Given the description of an element on the screen output the (x, y) to click on. 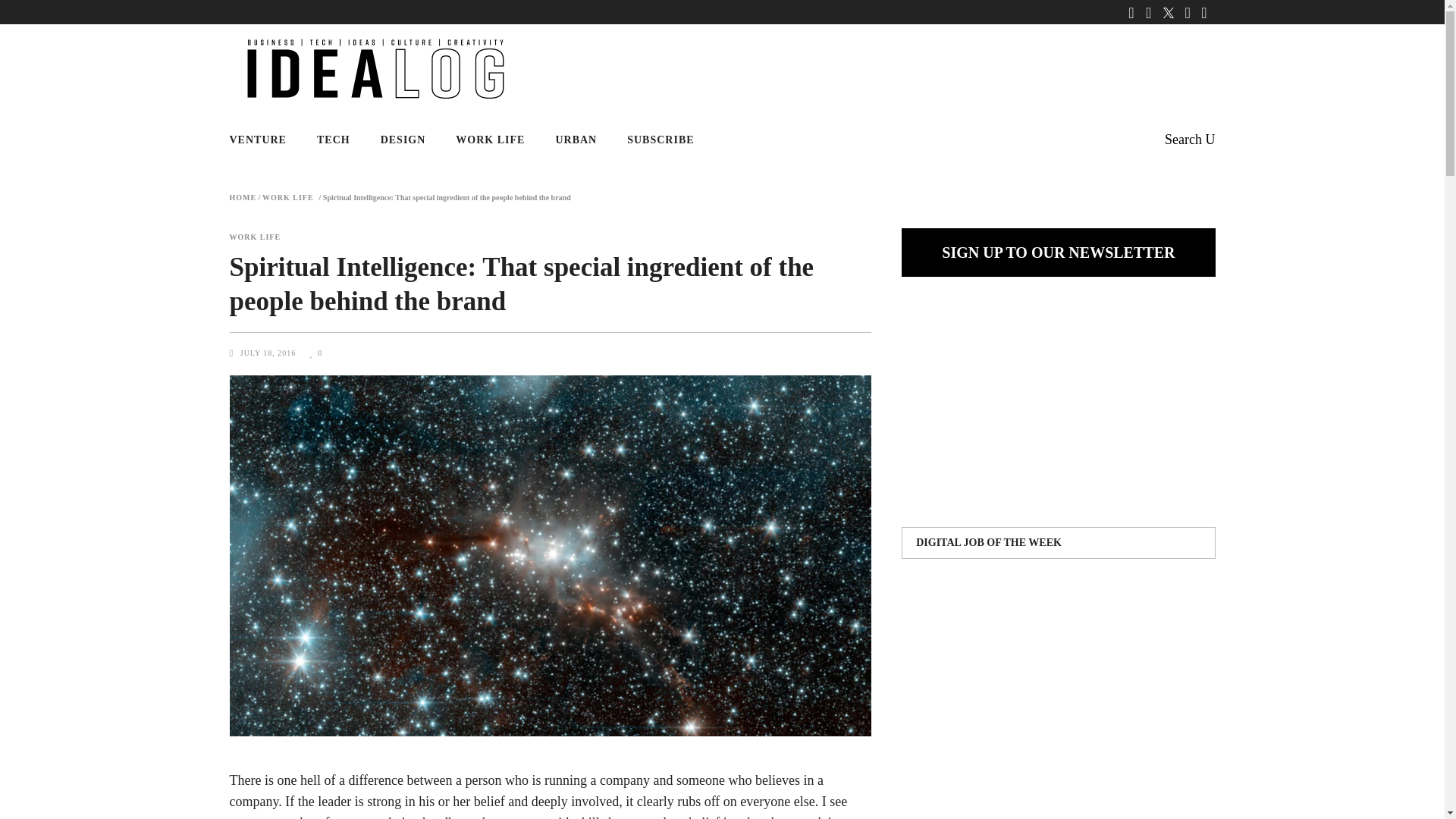
WORK LIFE (254, 236)
DESIGN (403, 139)
WORK LIFE (490, 139)
Like this (315, 352)
TECH (333, 139)
JULY 18, 2016 (269, 352)
0 (315, 352)
Search (1189, 139)
VENTURE (264, 139)
URBAN (575, 139)
